Given the description of an element on the screen output the (x, y) to click on. 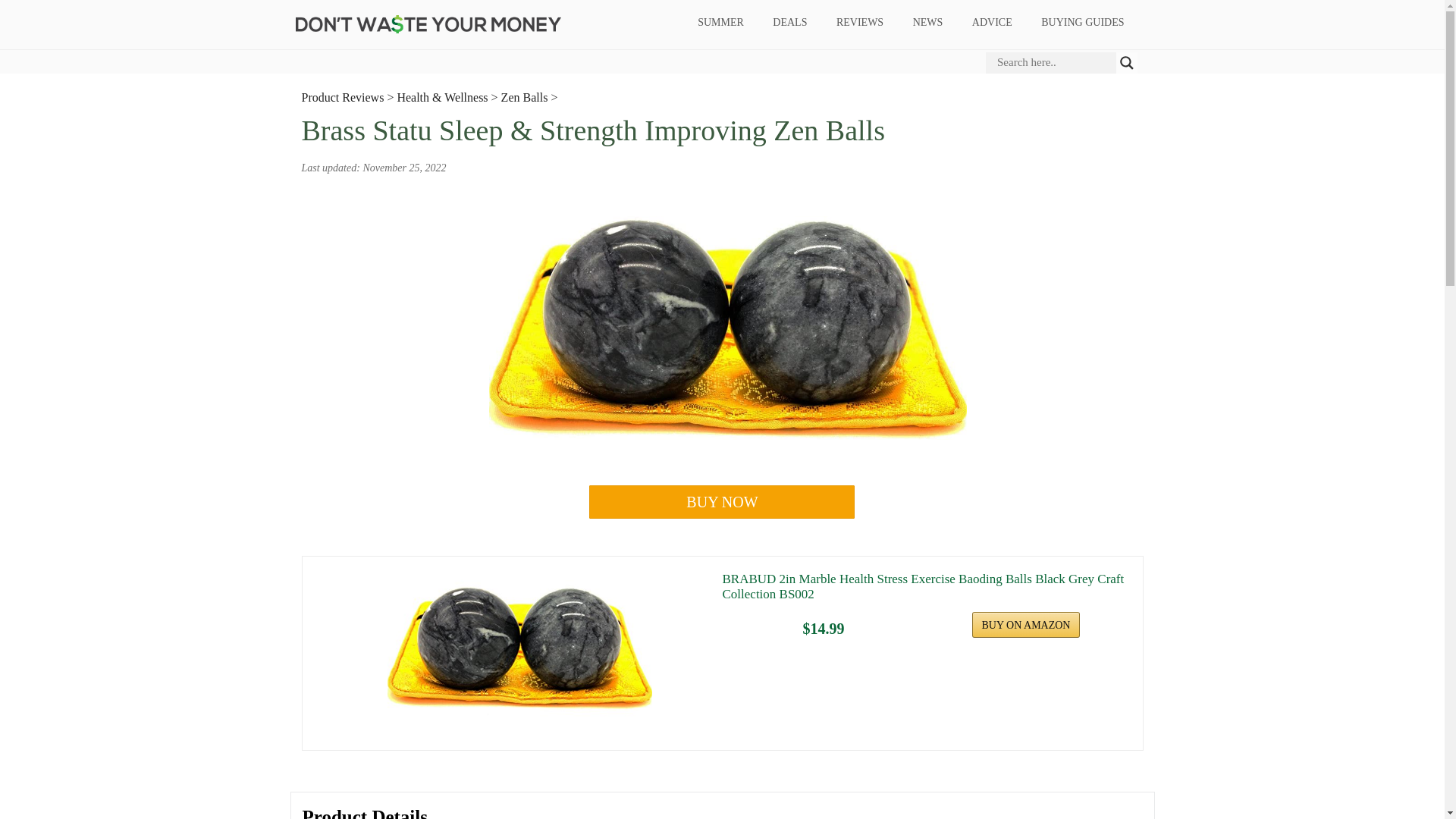
BUY NOW (721, 501)
BUY ON AMAZON (1026, 624)
Product Reviews (342, 97)
SUMMER (720, 22)
ADVICE (991, 22)
NEWS (927, 22)
BUY ON AMAZON (1026, 624)
BUYING GUIDES (1082, 22)
DEALS (790, 22)
Zen Balls (524, 97)
REVIEWS (859, 22)
